Given the description of an element on the screen output the (x, y) to click on. 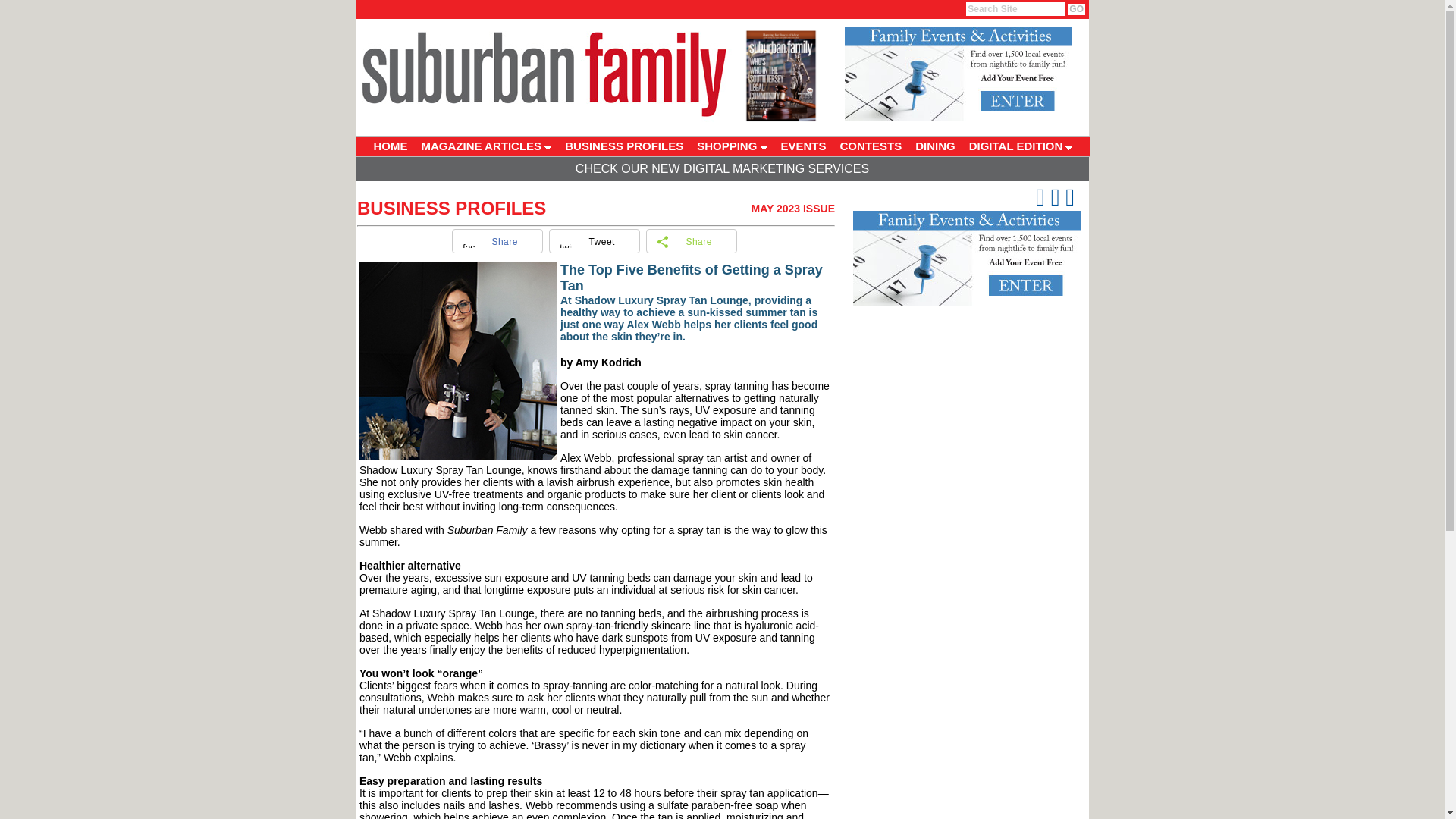
MAY 2023 ISSUE (792, 208)
CONTESTS (870, 145)
GO (1075, 9)
EVENTS (802, 145)
GO (1075, 9)
DIGITAL EDITION (1020, 145)
DINING (935, 145)
Search Site (1015, 8)
HOME (390, 145)
CHECK OUR NEW DIGITAL MARKETING SERVICES (722, 168)
BUSINESS PROFILES (623, 145)
MAGAZINE ARTICLES (485, 145)
BUSINESS PROFILES (451, 208)
SHOPPING (731, 145)
